Given the description of an element on the screen output the (x, y) to click on. 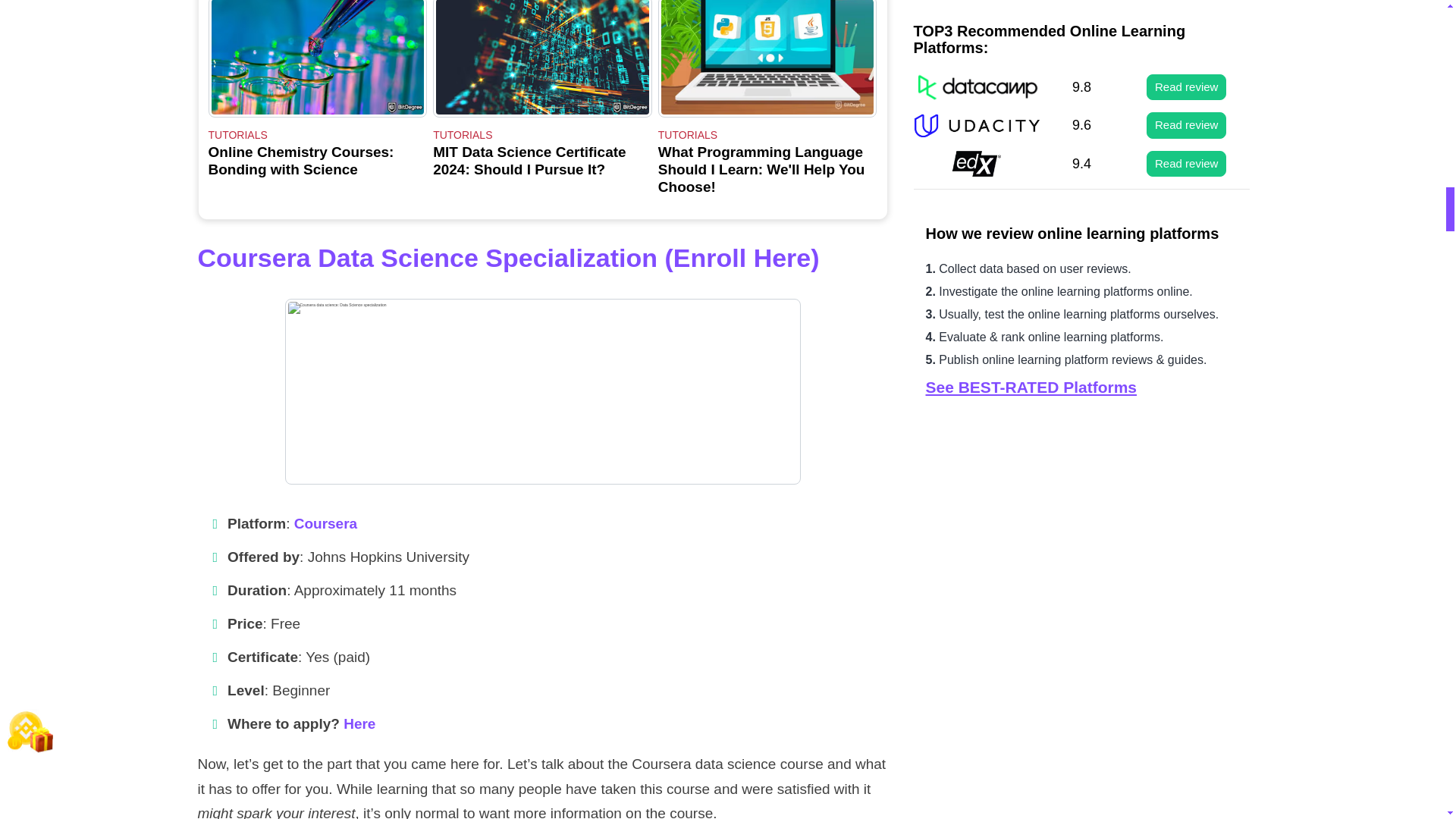
Coursera data science: Data Science specialization (542, 391)
Online Chemistry Courses: Bonding with Science (317, 97)
MIT Data Science Certificate 2024: Should I Pursue It? (317, 58)
